Given the description of an element on the screen output the (x, y) to click on. 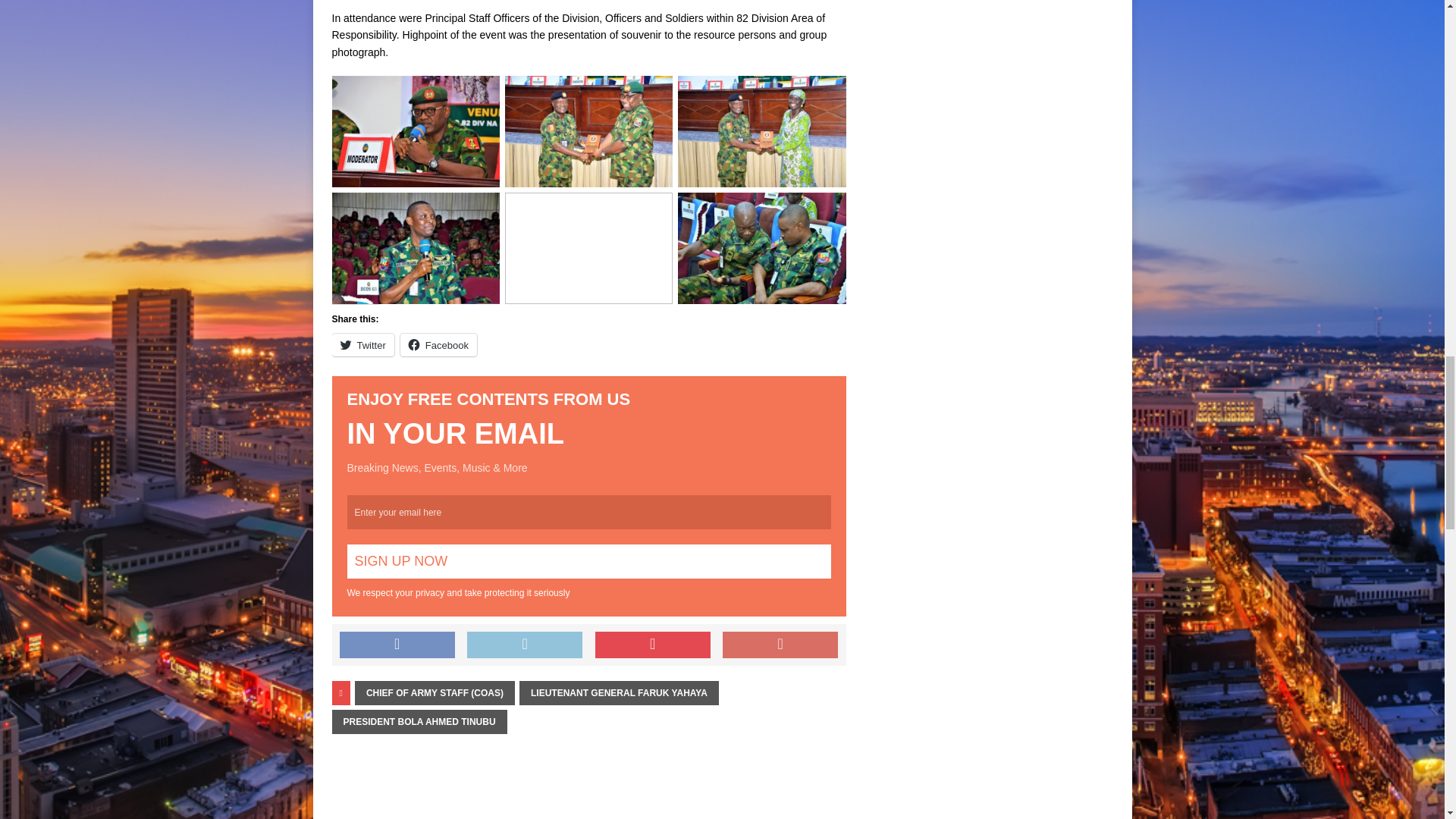
Share on Facebook (396, 645)
Sign Up Now (589, 561)
Click to share on Twitter (362, 344)
Click to share on Facebook (438, 344)
Advertisement (407, 2)
